Given the description of an element on the screen output the (x, y) to click on. 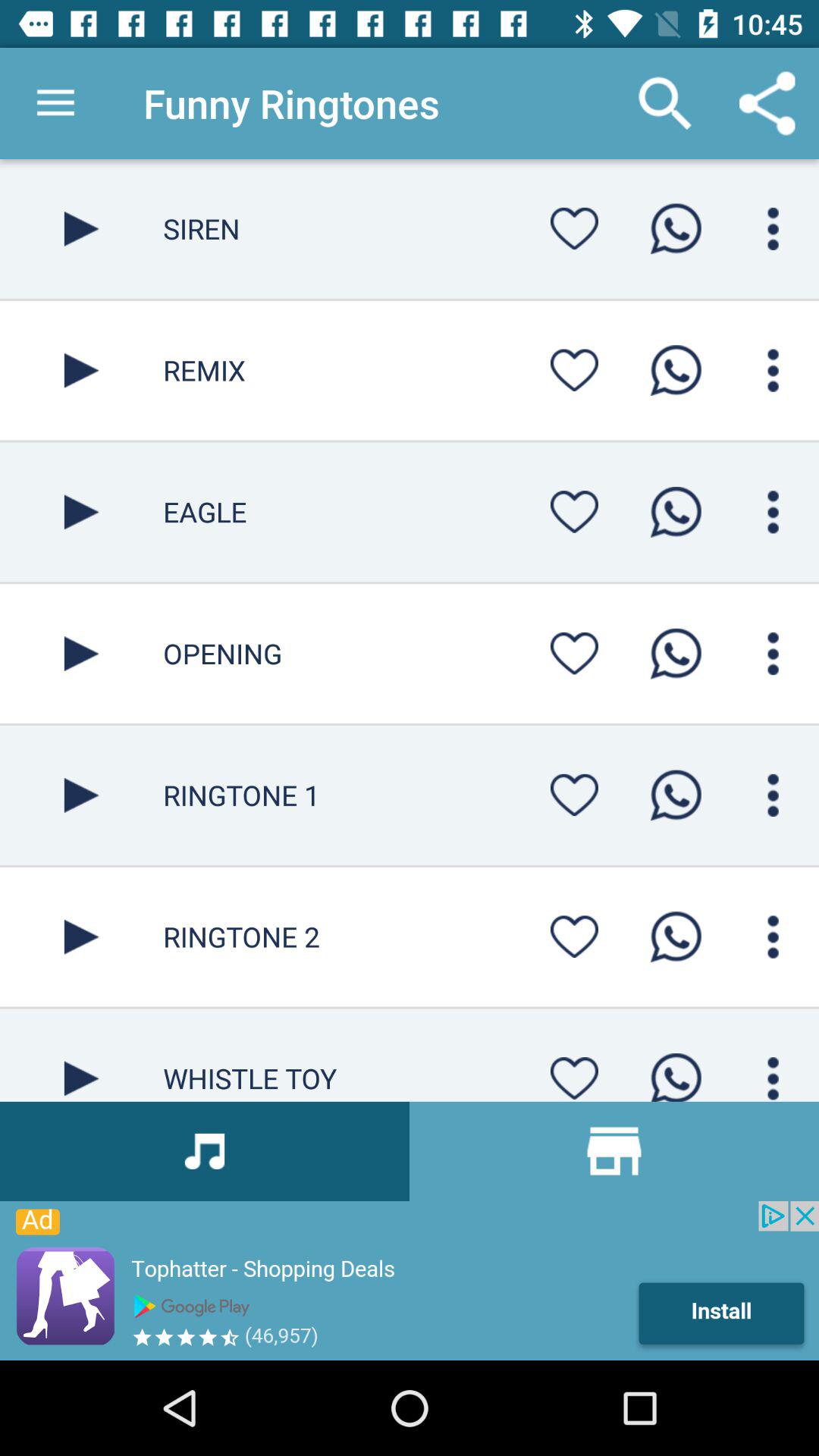
whats app call option (675, 794)
